Given the description of an element on the screen output the (x, y) to click on. 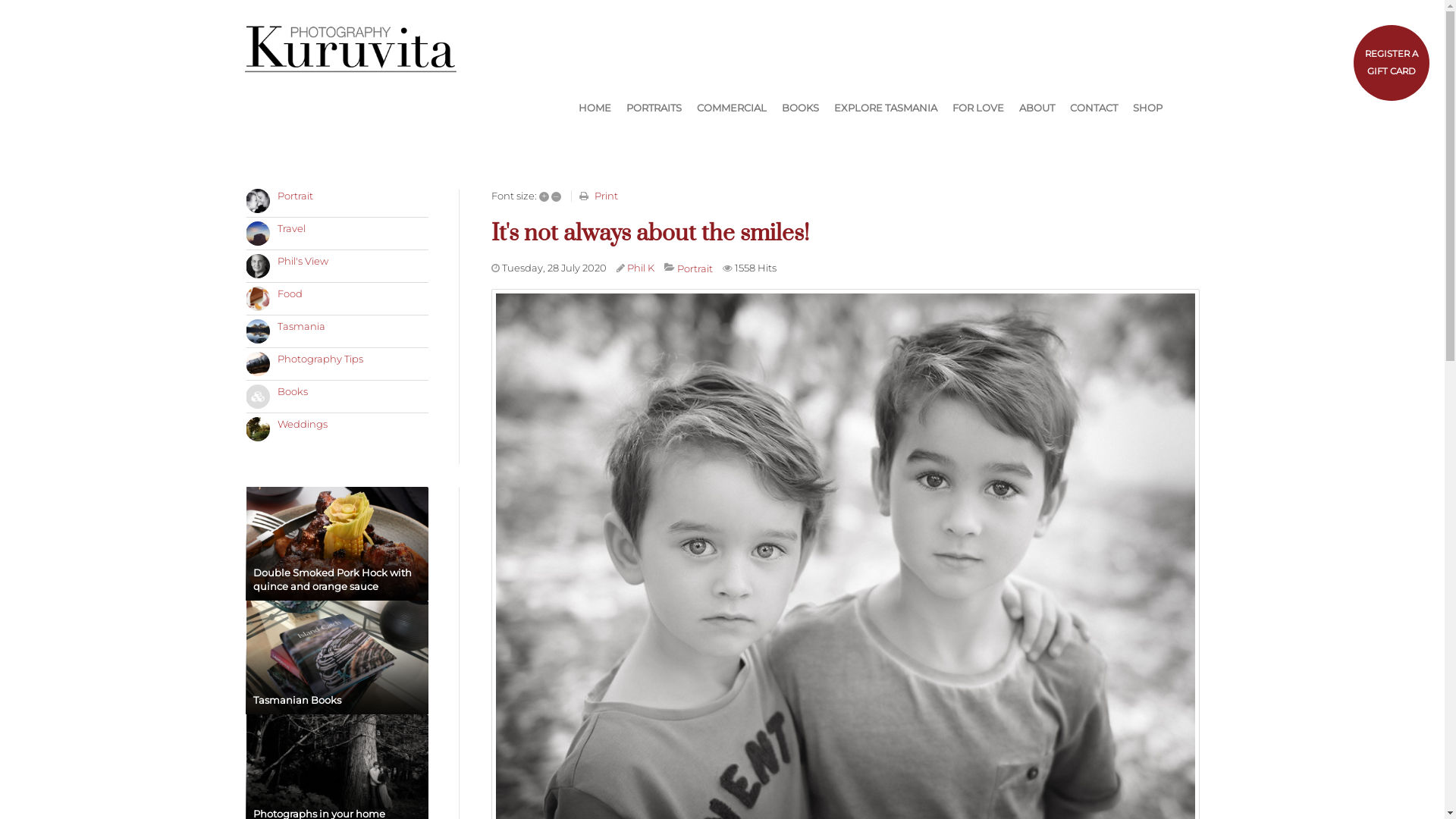
COMMERCIAL Element type: text (730, 108)
Tasmania Element type: text (301, 326)
Phil K Element type: text (640, 267)
CONTACT Element type: text (1092, 108)
Portrait Element type: text (295, 195)
+ Element type: text (544, 196)
HOME Element type: text (594, 108)
FOR LOVE Element type: text (977, 108)
PORTRAITS Element type: text (653, 108)
ABOUT Element type: text (1036, 108)
Photography Tips Element type: text (320, 358)
Print Element type: text (606, 195)
Phil's View Element type: text (302, 260)
SHOP Element type: text (1147, 108)
EXPLORE TASMANIA Element type: text (885, 108)
Double Smoked Pork Hock with quince and orange sauce Element type: text (336, 543)
Travel Element type: text (291, 228)
Weddings Element type: text (302, 423)
Tasmanian Books Element type: text (336, 657)
Food Element type: text (289, 293)
REGISTER A GIFT CARD Element type: text (1391, 62)
Books Element type: text (292, 391)
BOOKS Element type: text (799, 108)
Portrait Element type: text (694, 268)
